Given the description of an element on the screen output the (x, y) to click on. 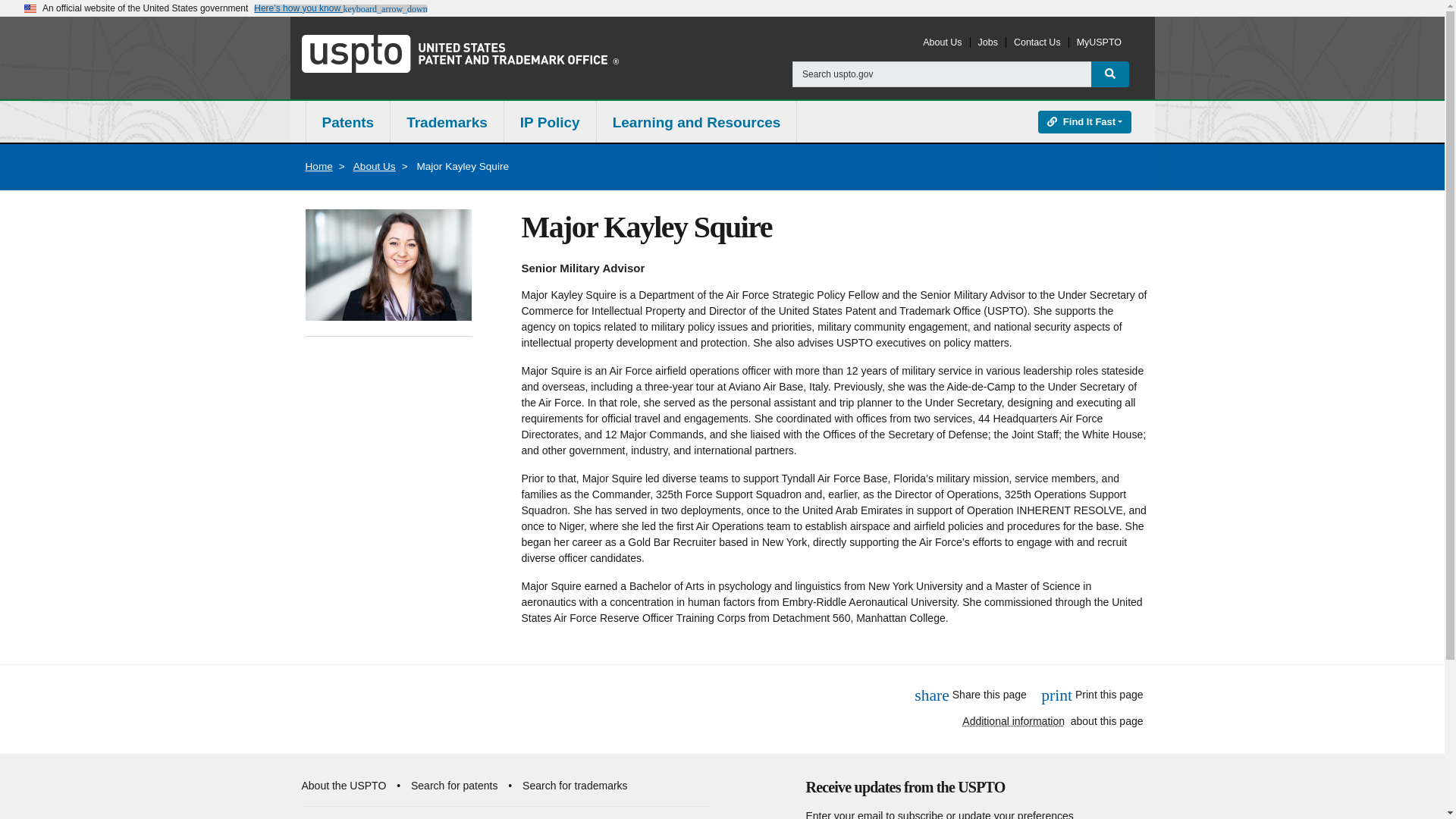
Jobs (987, 41)
Search uspto.gov (942, 73)
Trademarks (446, 122)
About Us (942, 41)
USPTO - United States Patent and Trademark Office (459, 53)
Patents (347, 122)
MyUSPTO (1098, 41)
Contact Us (1037, 41)
Search (1109, 73)
